Given the description of an element on the screen output the (x, y) to click on. 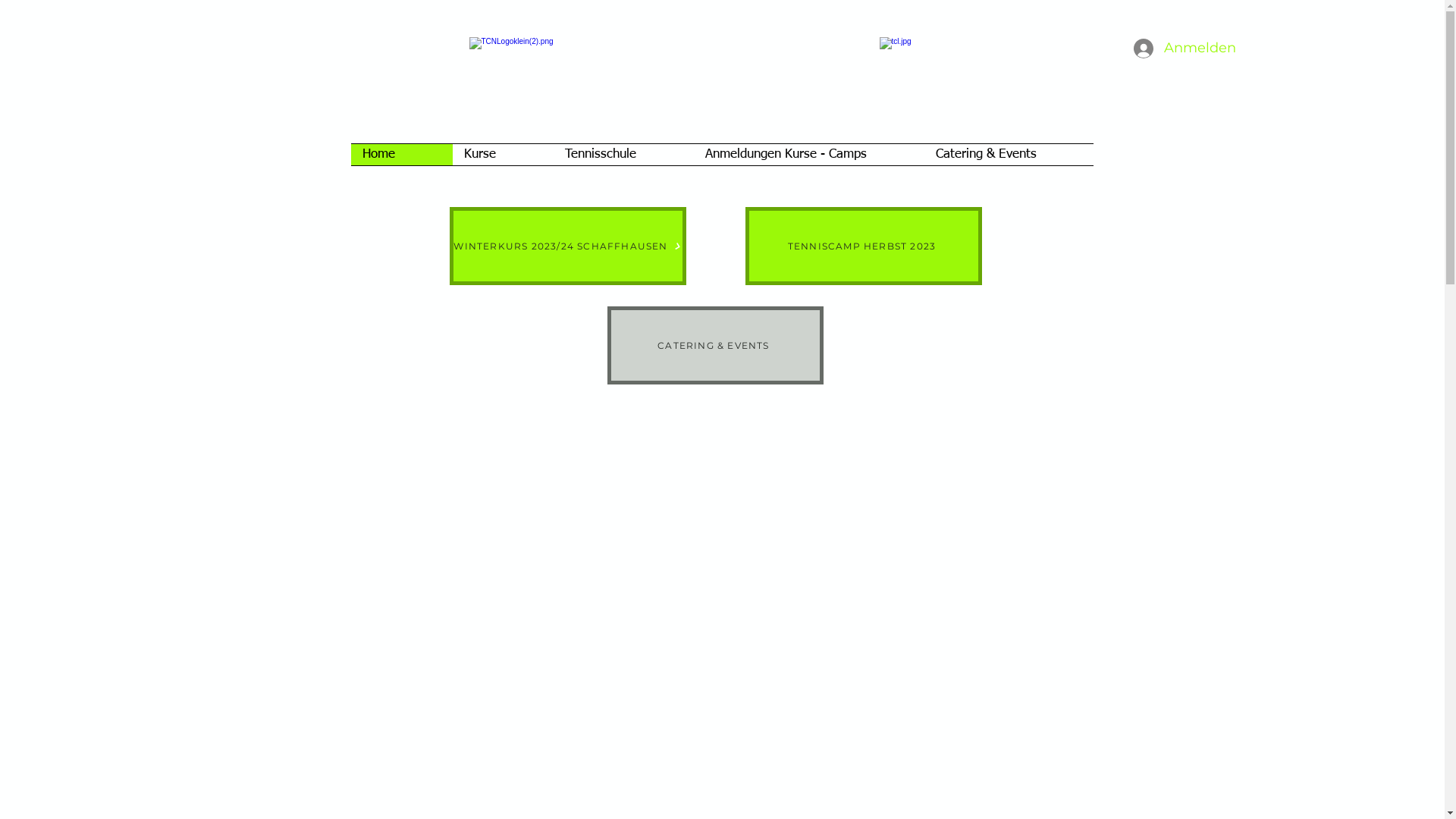
TENNISCAMP HERBST 2023 Element type: text (862, 246)
CATERING & EVENTS Element type: text (714, 345)
Home Element type: text (400, 154)
Anmeldungen Kurse - Camps Element type: text (808, 154)
Anmelden Element type: text (1167, 48)
WINTERKURS 2023/24 SCHAFFHAUSEN Element type: text (566, 246)
Catering & Events Element type: text (1007, 154)
Kurse Element type: text (501, 154)
